Given the description of an element on the screen output the (x, y) to click on. 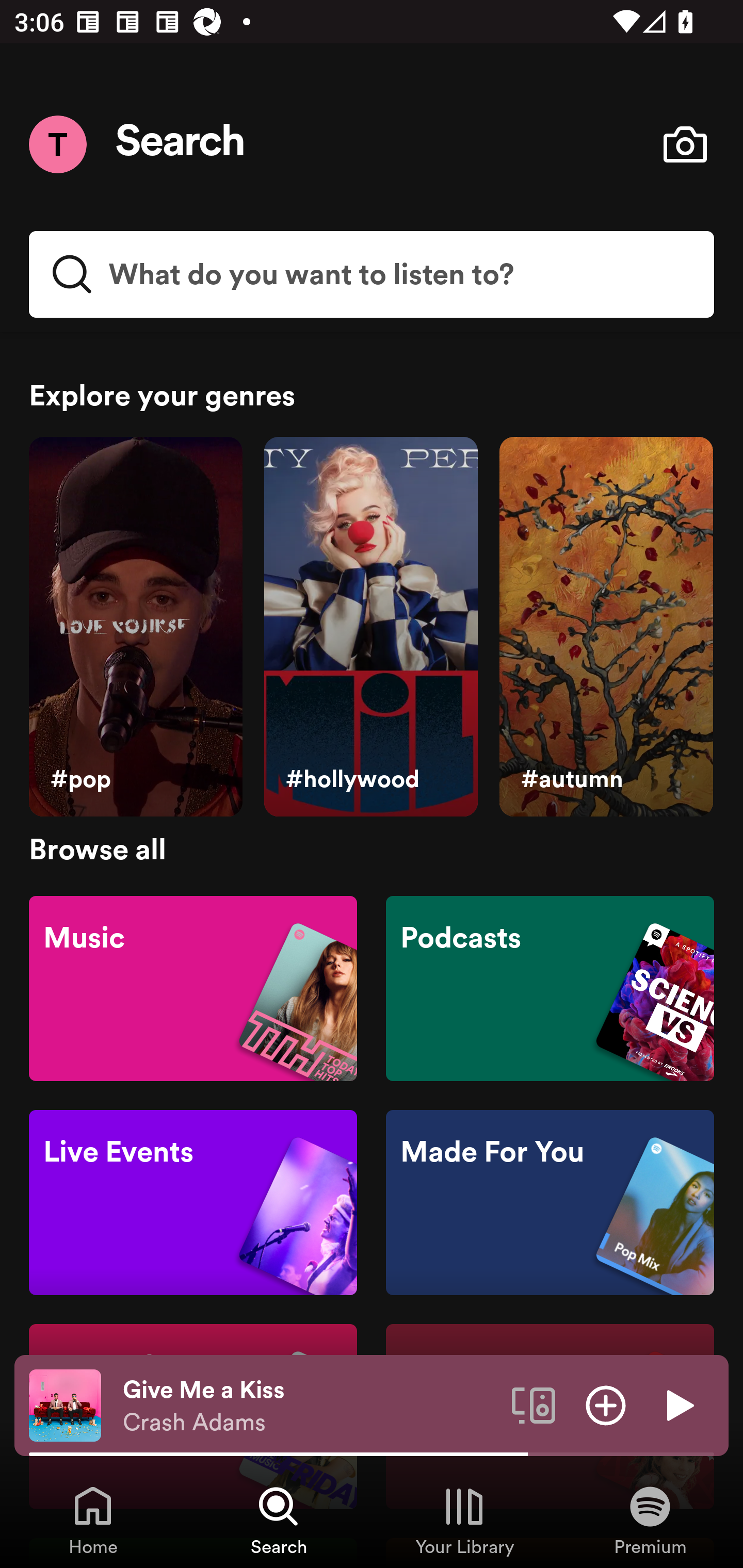
Menu (57, 144)
Open camera (685, 145)
Search (180, 144)
#pop (135, 626)
#hollywood (370, 626)
#autumn (606, 626)
Music (192, 987)
Podcasts (549, 987)
Live Events (192, 1202)
Made For You (549, 1202)
Give Me a Kiss Crash Adams (309, 1405)
The cover art of the currently playing track (64, 1404)
Connect to a device. Opens the devices menu (533, 1404)
Add item (605, 1404)
Play (677, 1404)
Home, Tab 1 of 4 Home Home (92, 1519)
Search, Tab 2 of 4 Search Search (278, 1519)
Your Library, Tab 3 of 4 Your Library Your Library (464, 1519)
Premium, Tab 4 of 4 Premium Premium (650, 1519)
